Given the description of an element on the screen output the (x, y) to click on. 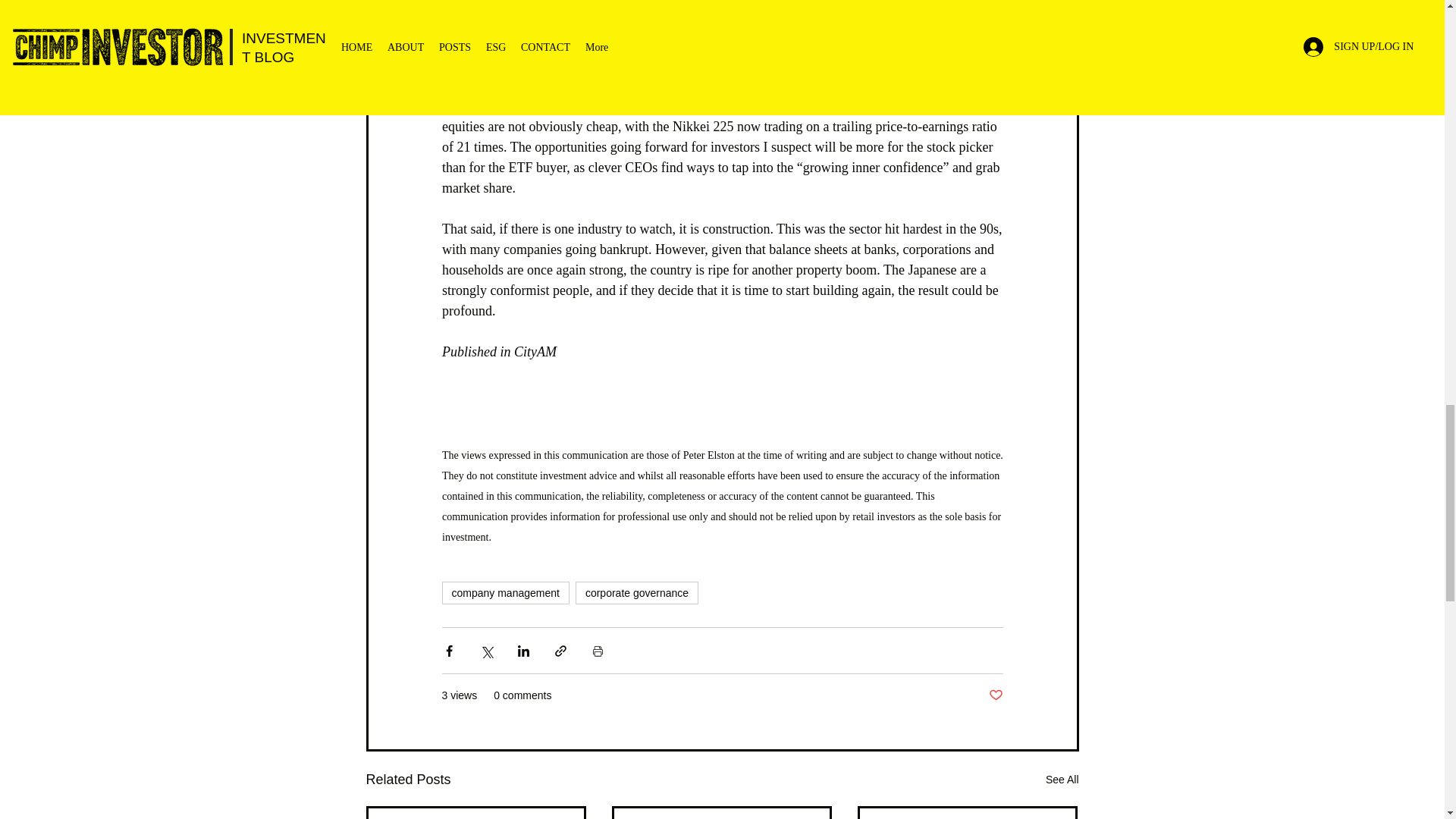
Post not marked as liked (995, 695)
company management (505, 592)
corporate governance (636, 592)
See All (1061, 780)
